Given the description of an element on the screen output the (x, y) to click on. 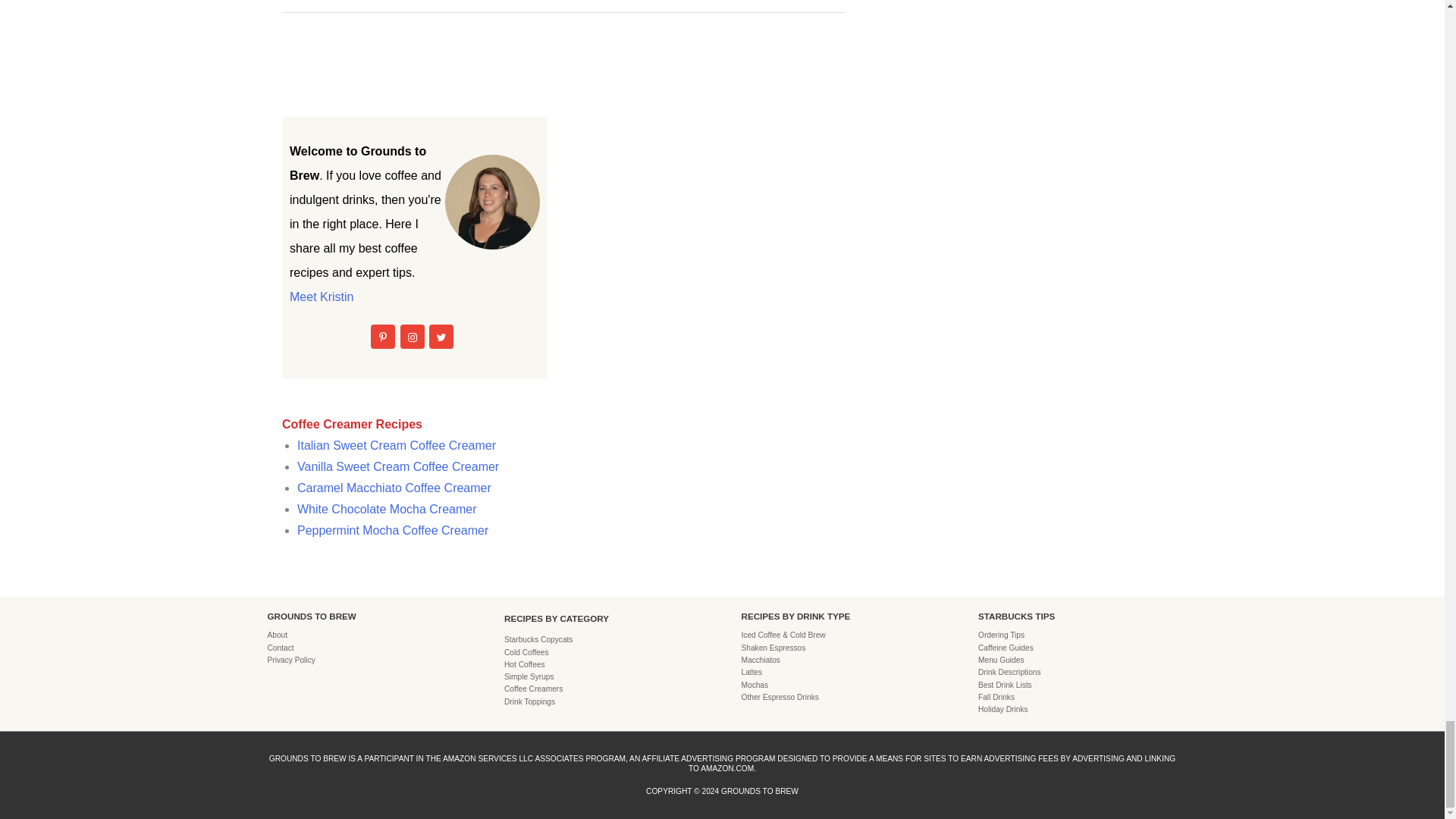
Follow on Pinterest (382, 336)
Follow on Instagram (412, 336)
Follow on Twitter (440, 336)
